Given the description of an element on the screen output the (x, y) to click on. 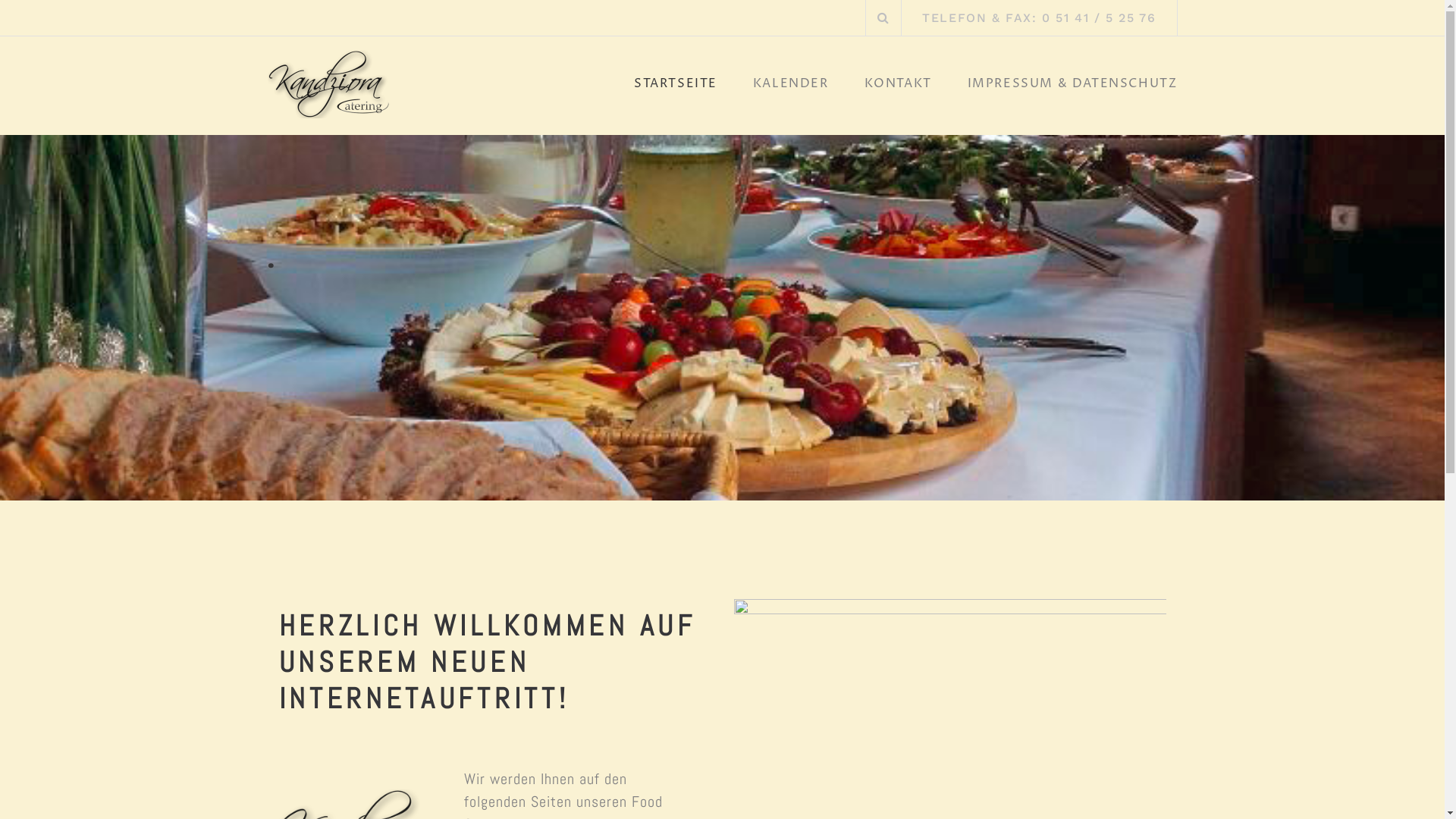
IMPRESSUM & DATENSCHUTZ Element type: text (1072, 87)
KONTAKT Element type: text (897, 87)
Zum Inhalt Element type: text (0, 0)
KALENDER Element type: text (790, 87)
STARTSEITE Element type: text (675, 87)
